Given the description of an element on the screen output the (x, y) to click on. 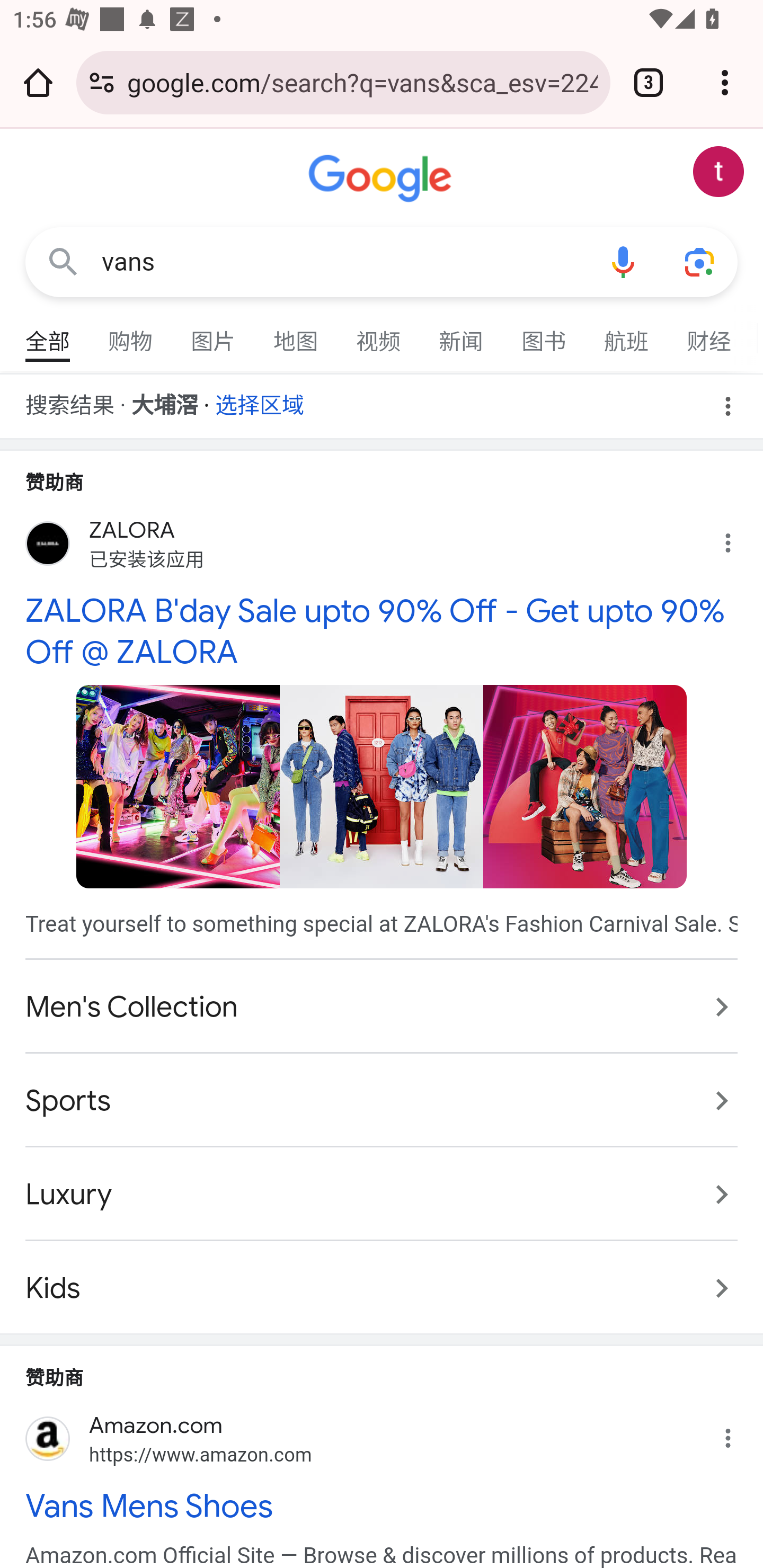
Open the home page (38, 82)
Connection is secure (101, 82)
Switch or close tabs (648, 82)
Customize and control Google Chrome (724, 82)
Google (381, 179)
Google 账号： test appium (testappium002@gmail.com) (718, 171)
Google 搜索 (63, 262)
使用拍照功能或照片进行搜索 (699, 262)
vans (343, 261)
购物 (131, 333)
图片 (213, 333)
地图 (296, 333)
视频 (379, 333)
新闻 (461, 333)
图书 (544, 333)
航班 (627, 333)
财经 (709, 333)
选择区域 (259, 399)
为什么会显示该广告？ (738, 538)
图片来自 zalora.com.hk (178, 786)
图片来自 zalora.com.hk (381, 786)
图片来自 zalora.com.hk (584, 786)
Men's Collection (381, 1006)
Sports (381, 1100)
Luxury (381, 1194)
Kids (381, 1278)
为什么会显示该广告？ (738, 1433)
Vans Mens Shoes (381, 1506)
